Given the description of an element on the screen output the (x, y) to click on. 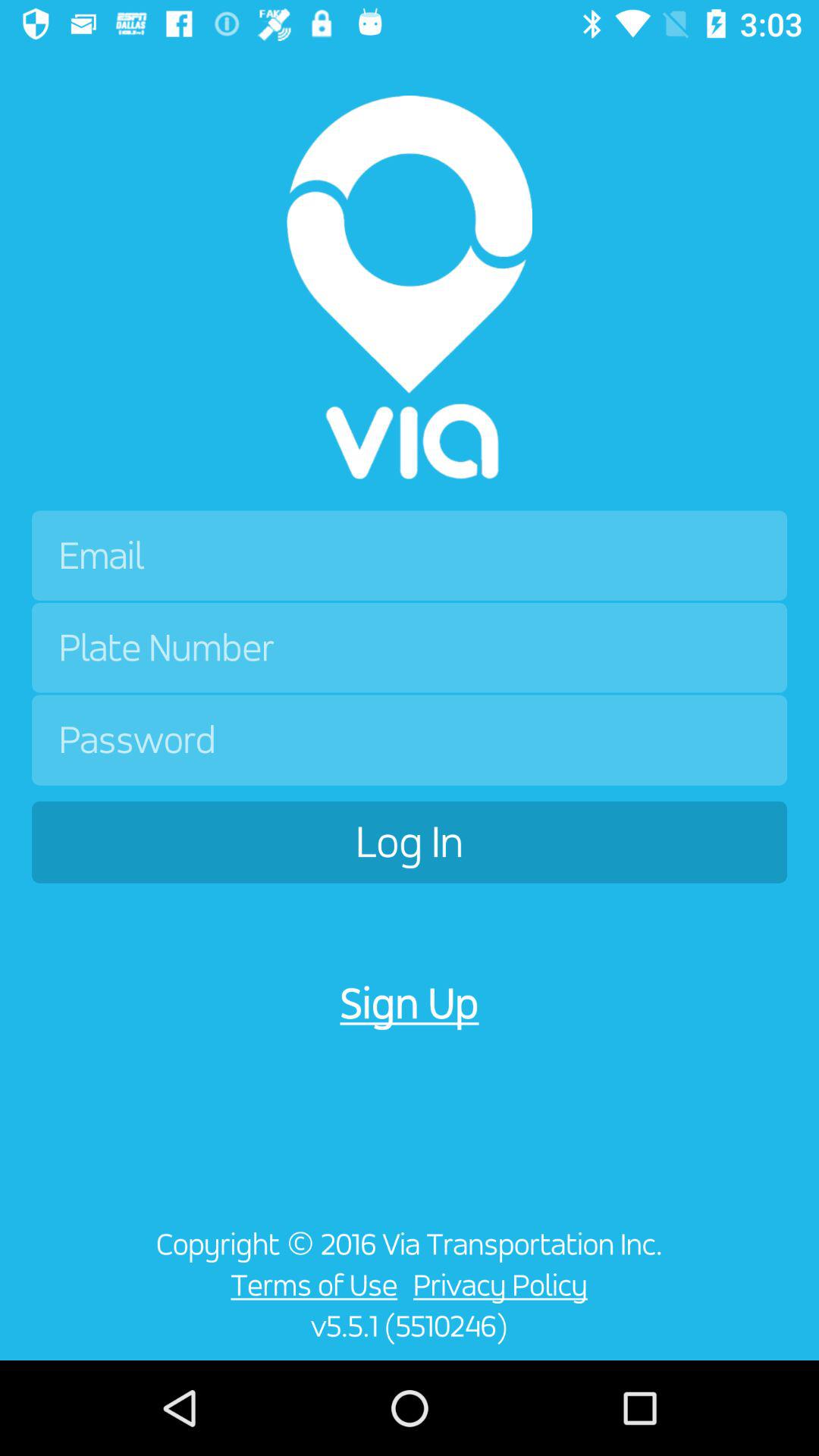
click the item above the v5 5 1 icon (504, 1284)
